Given the description of an element on the screen output the (x, y) to click on. 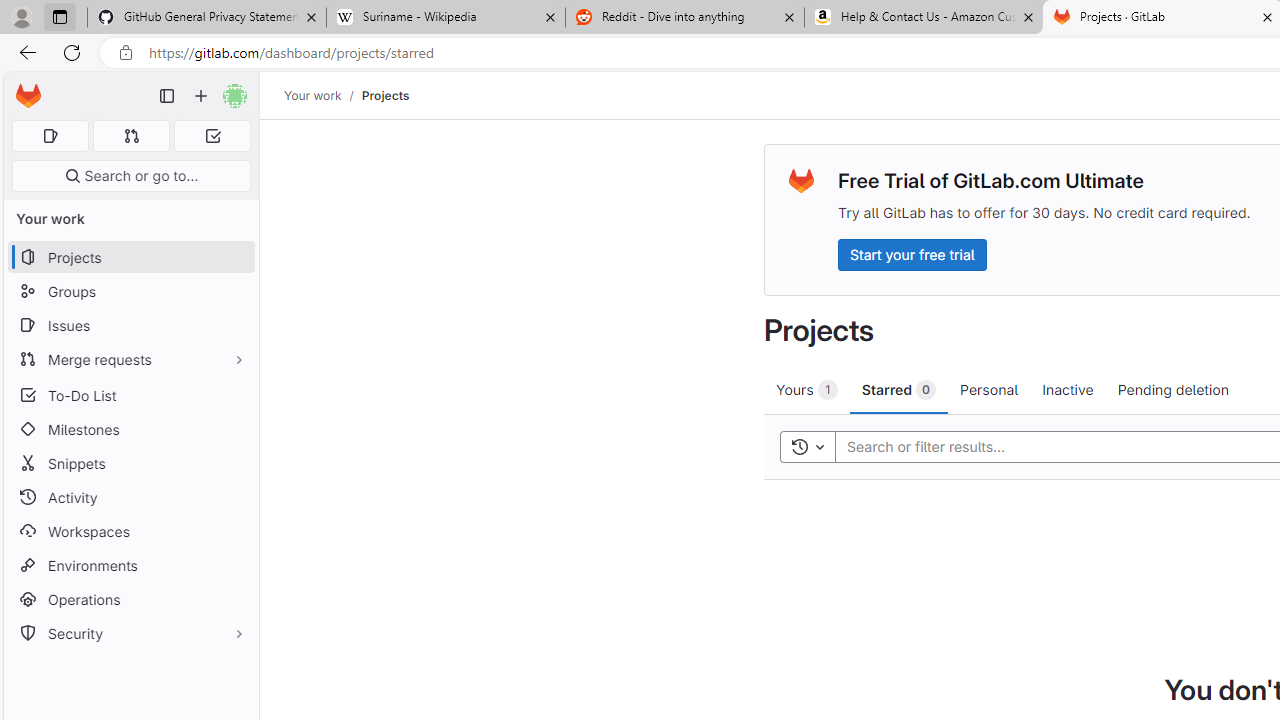
Snippets (130, 463)
Merge requests (130, 358)
Your work (312, 95)
Homepage (27, 96)
Merge requests 0 (131, 136)
Suriname - Wikipedia (445, 17)
To-Do List (130, 394)
Primary navigation sidebar (167, 96)
Operations (130, 599)
GitHub General Privacy Statement - GitHub Docs (207, 17)
Groups (130, 291)
Start your free trial (912, 254)
Operations (130, 599)
